Given the description of an element on the screen output the (x, y) to click on. 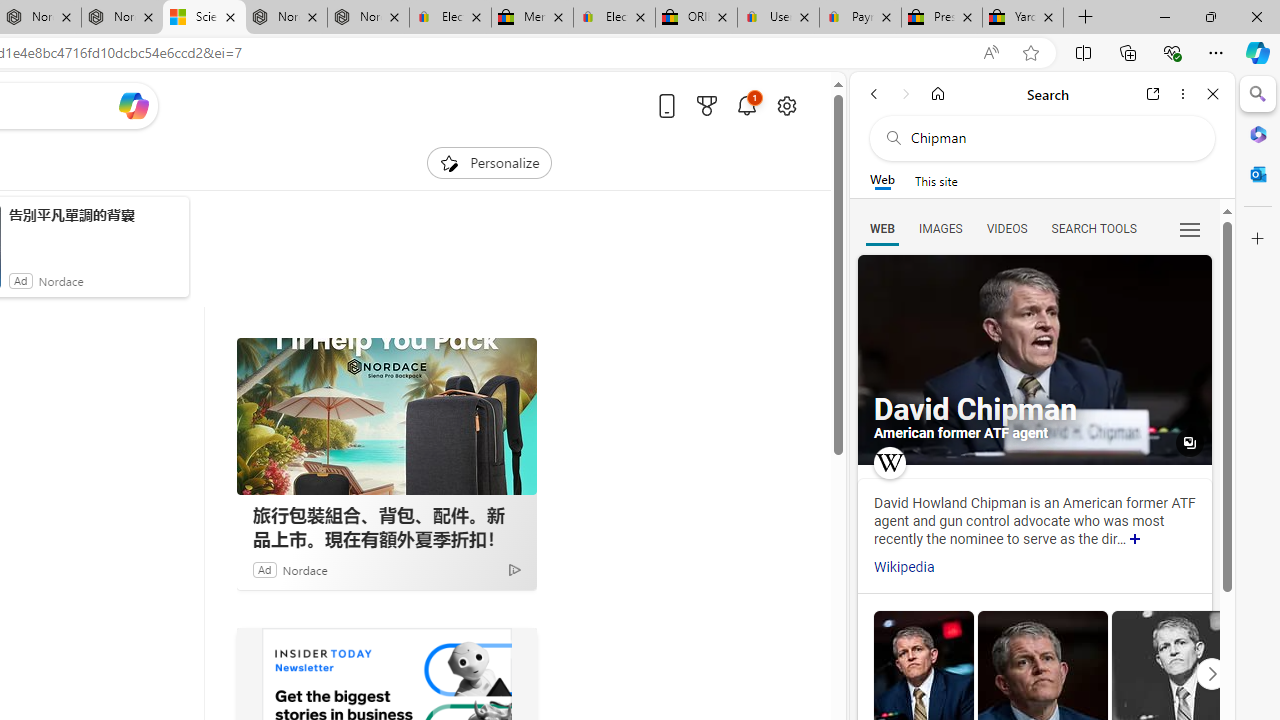
All images (1190, 443)
